Given the description of an element on the screen output the (x, y) to click on. 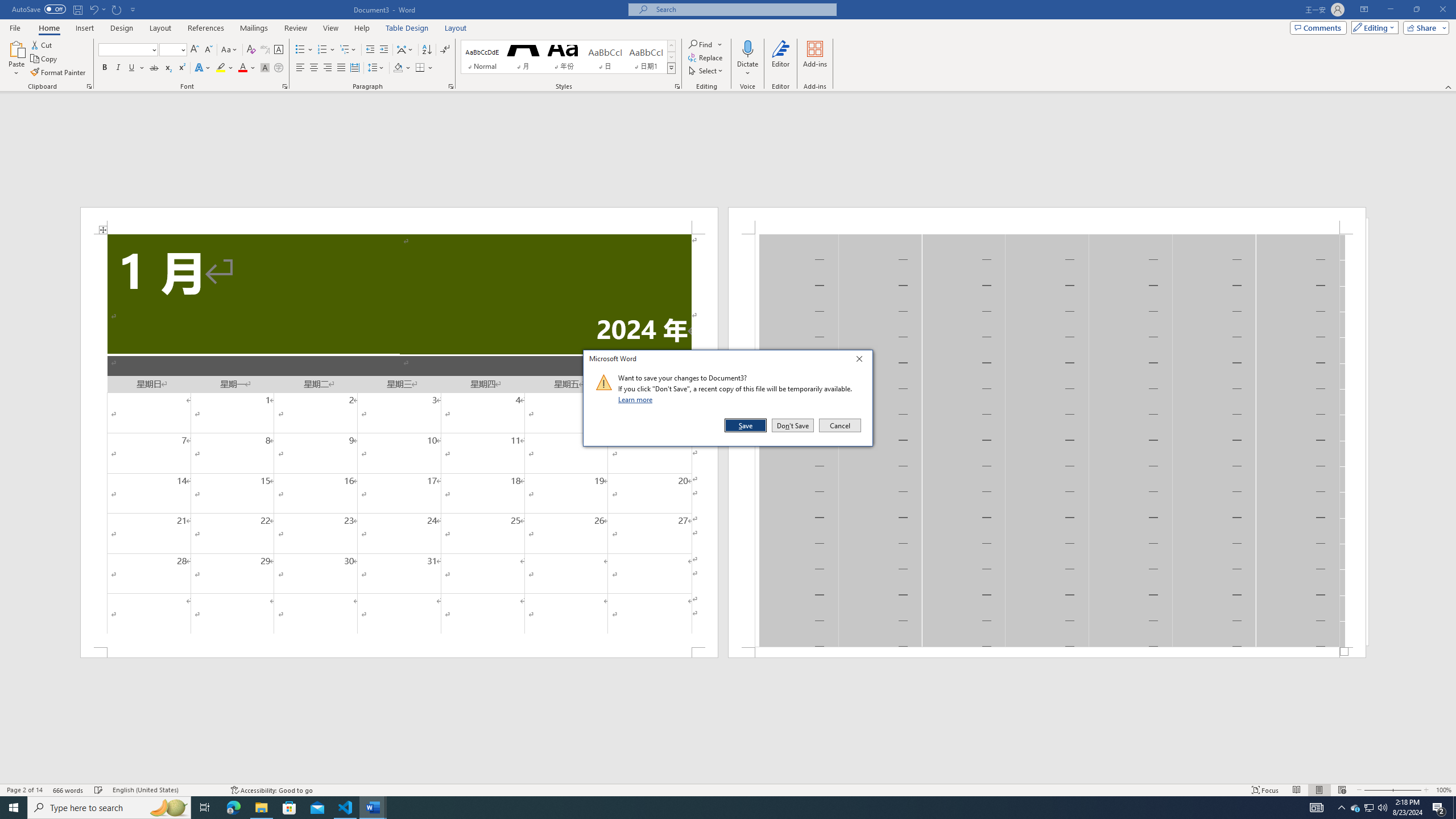
Text Effects and Typography (202, 67)
Row up (670, 45)
Footer -Section 1- (1046, 652)
Center (313, 67)
Shrink Font (208, 49)
Row Down (670, 56)
Repeat Doc Close (117, 9)
Decrease Indent (370, 49)
Styles (670, 67)
